Given the description of an element on the screen output the (x, y) to click on. 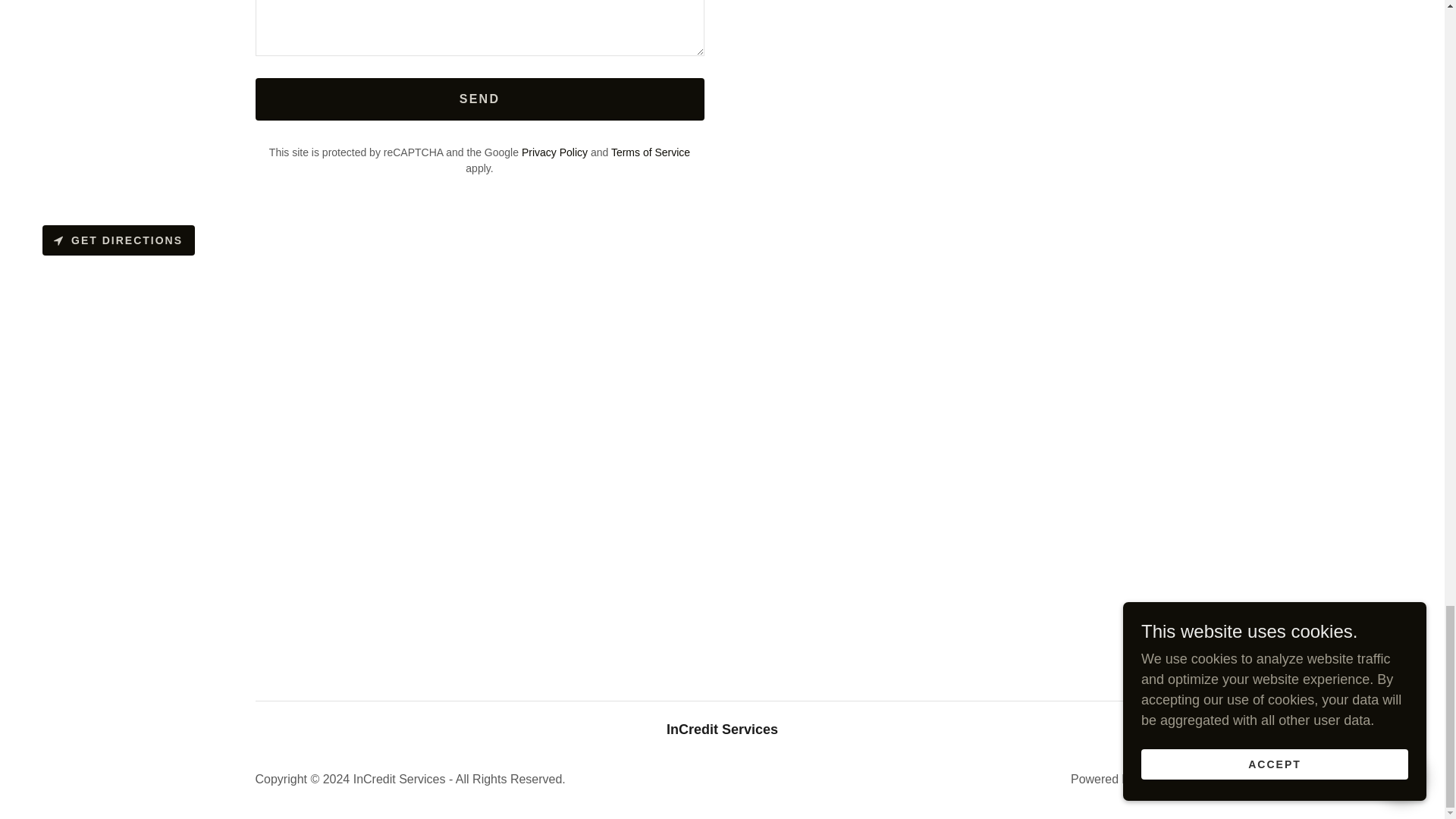
GoDaddy (1163, 779)
GET DIRECTIONS (118, 240)
Terms of Service (650, 152)
SEND (478, 98)
Privacy Policy (554, 152)
